Given the description of an element on the screen output the (x, y) to click on. 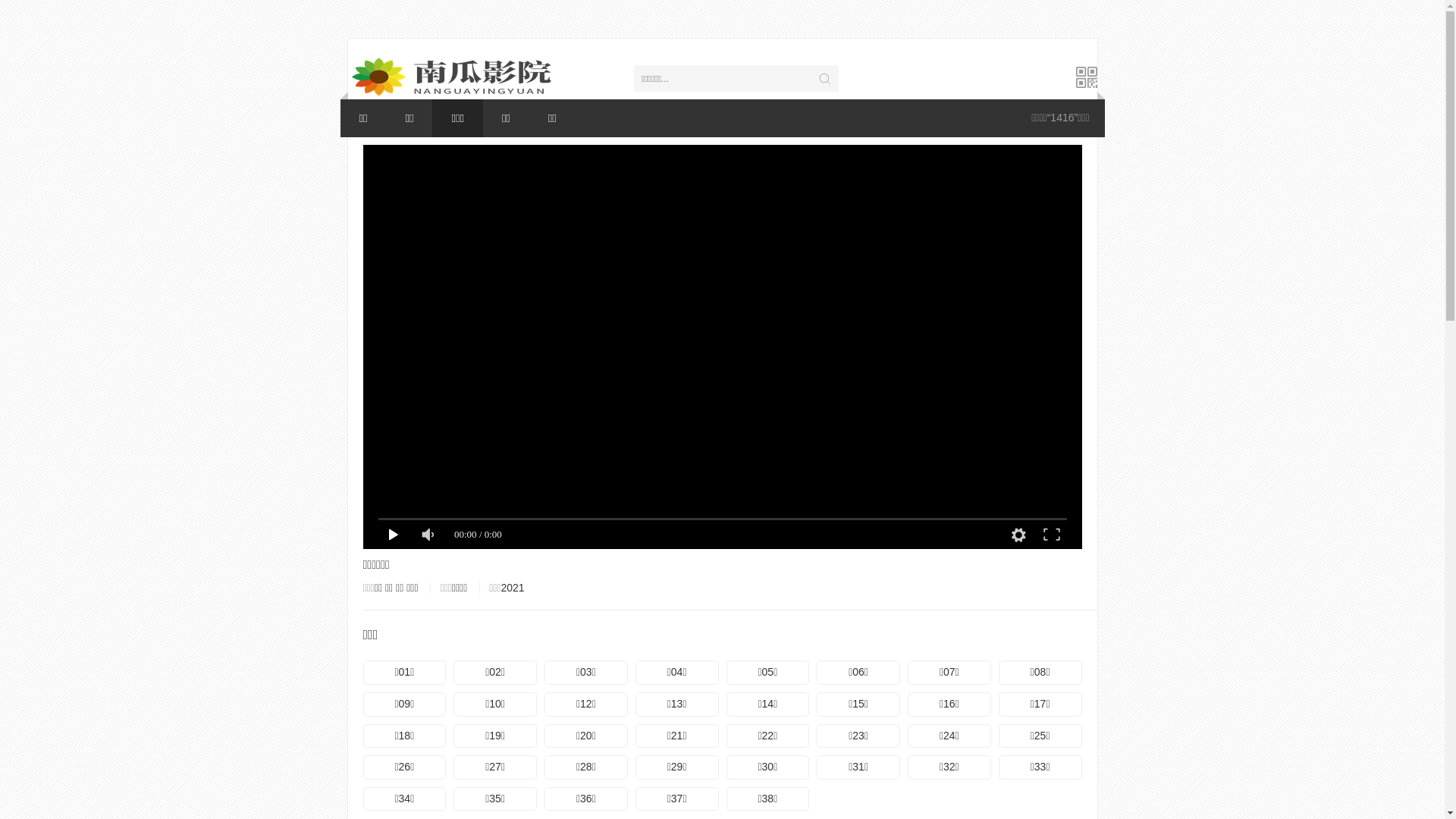
2021 Element type: text (512, 587)
